Given the description of an element on the screen output the (x, y) to click on. 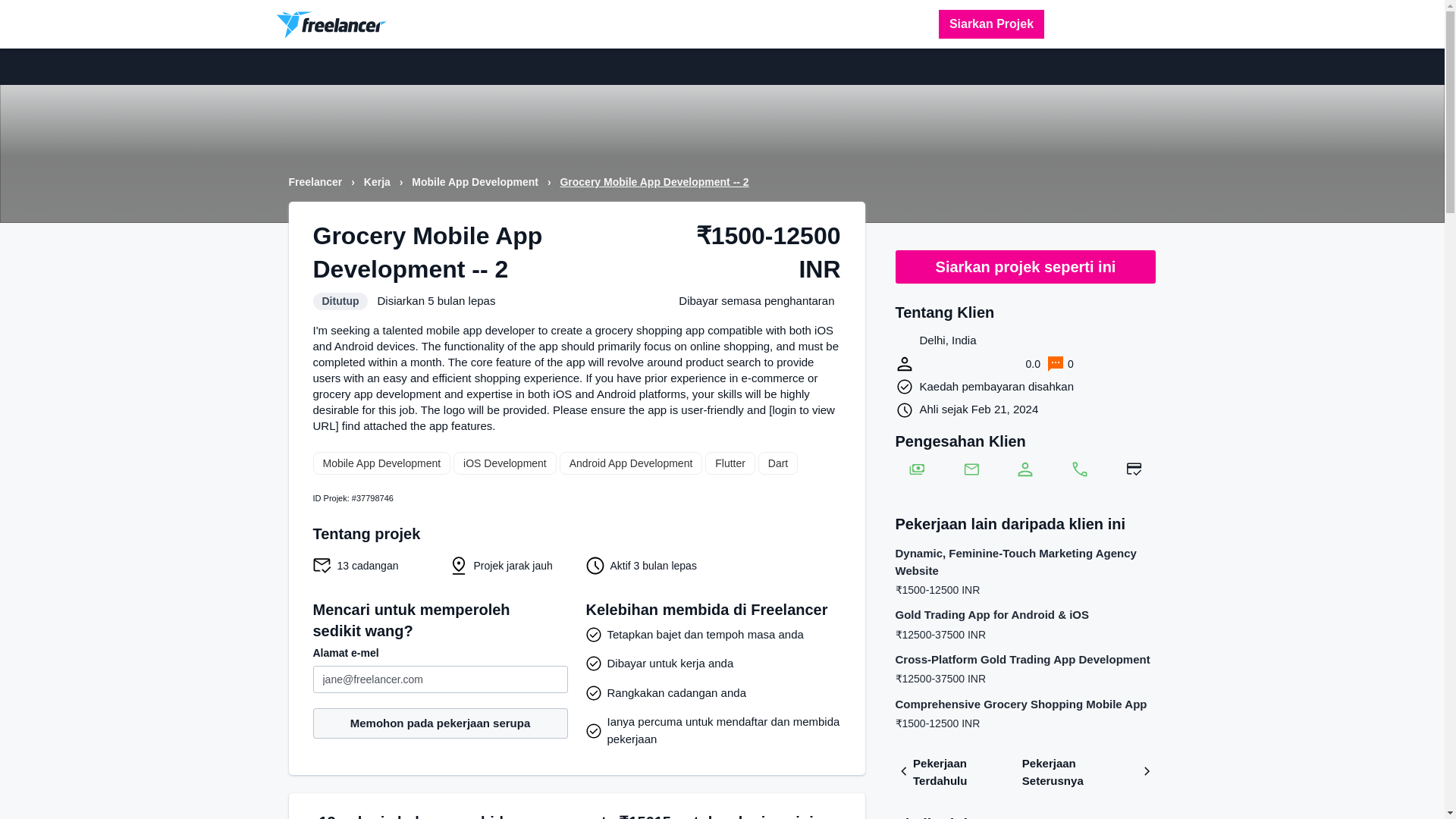
Dart (777, 463)
Kerja (378, 182)
Freelancer (316, 182)
Mobile App Development (476, 182)
Flutter (729, 463)
Android App Development (631, 463)
Siarkan projek seperti ini (1025, 266)
Memohon pada pekerjaan serupa (440, 723)
India (904, 341)
iOS Development (504, 463)
Mobile App Development (381, 463)
Siarkan Projek (991, 23)
